Given the description of an element on the screen output the (x, y) to click on. 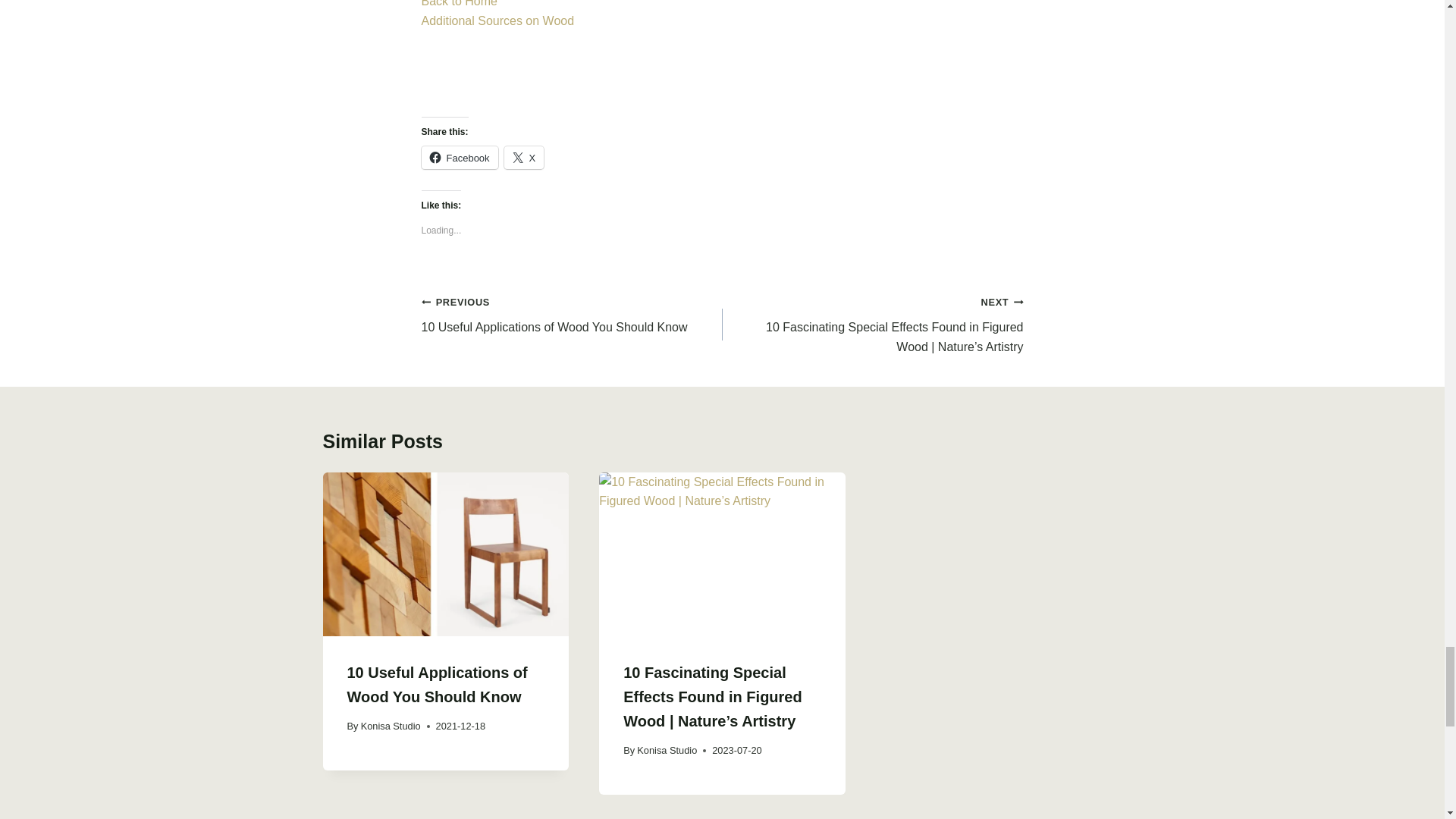
Konisa Studio (390, 726)
X (523, 157)
10 Useful Applications of Wood You Should Know (437, 684)
Click to share on X (523, 157)
Additional Sources on Wood (498, 20)
Back to Home (459, 3)
Click to share on Facebook (459, 157)
Facebook (572, 313)
